Given the description of an element on the screen output the (x, y) to click on. 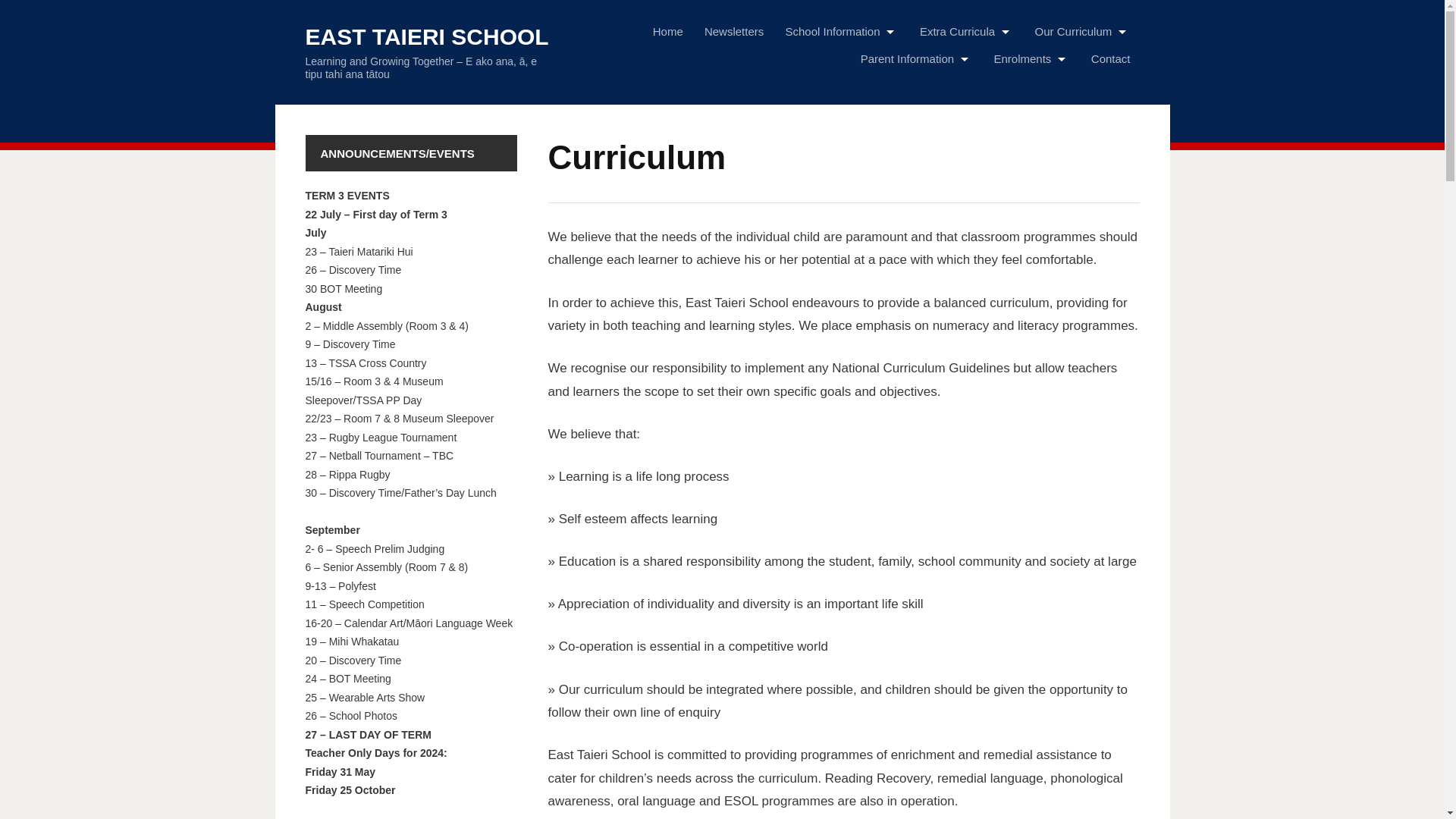
EAST TAIERI SCHOOL (426, 36)
